Given the description of an element on the screen output the (x, y) to click on. 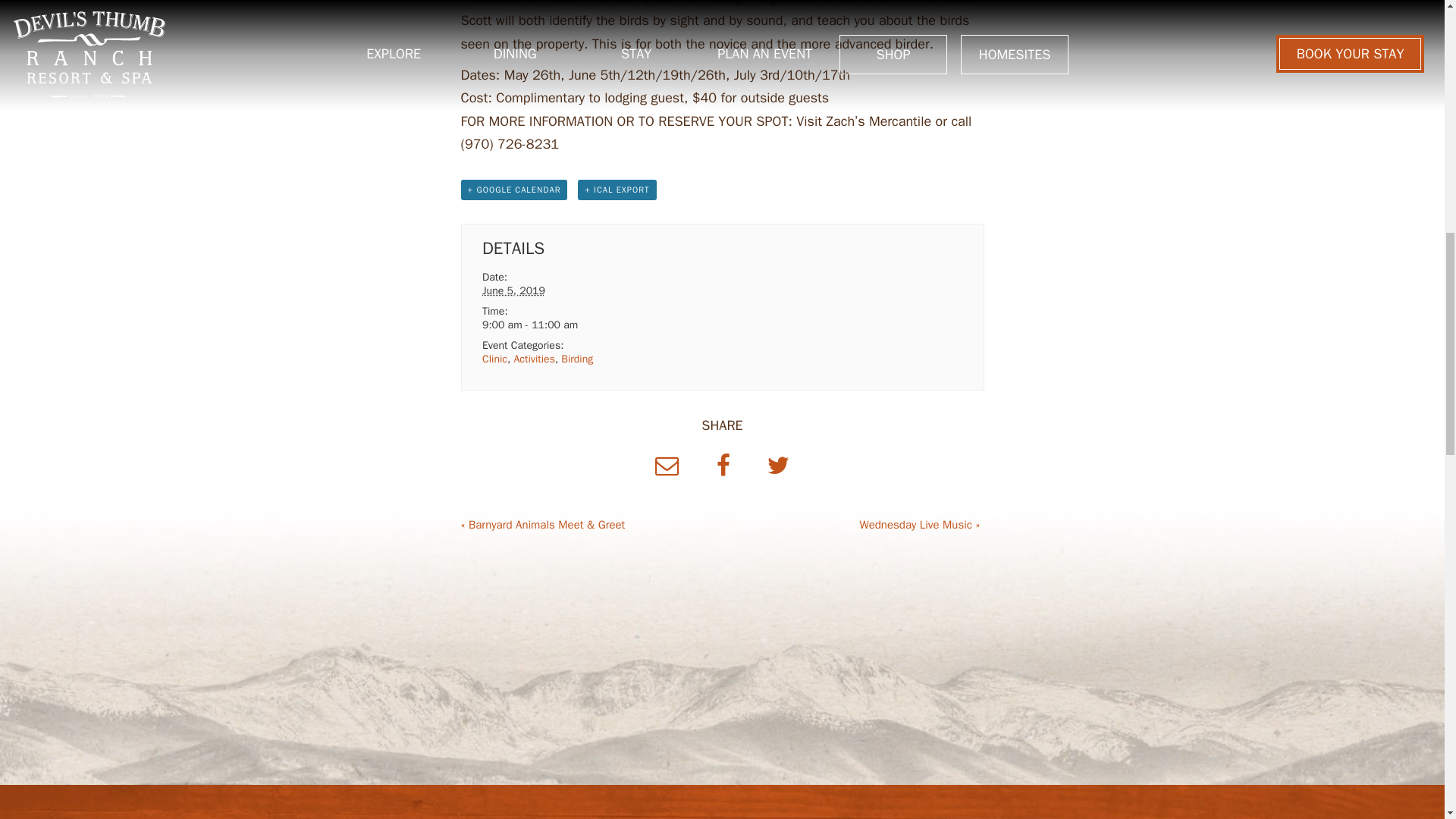
Download .ics file (617, 189)
Share on Twitter (778, 465)
2019-06-05 (512, 290)
Add to Google Calendar (514, 189)
Share on Facebook (726, 465)
2019-06-05 (547, 324)
